Given the description of an element on the screen output the (x, y) to click on. 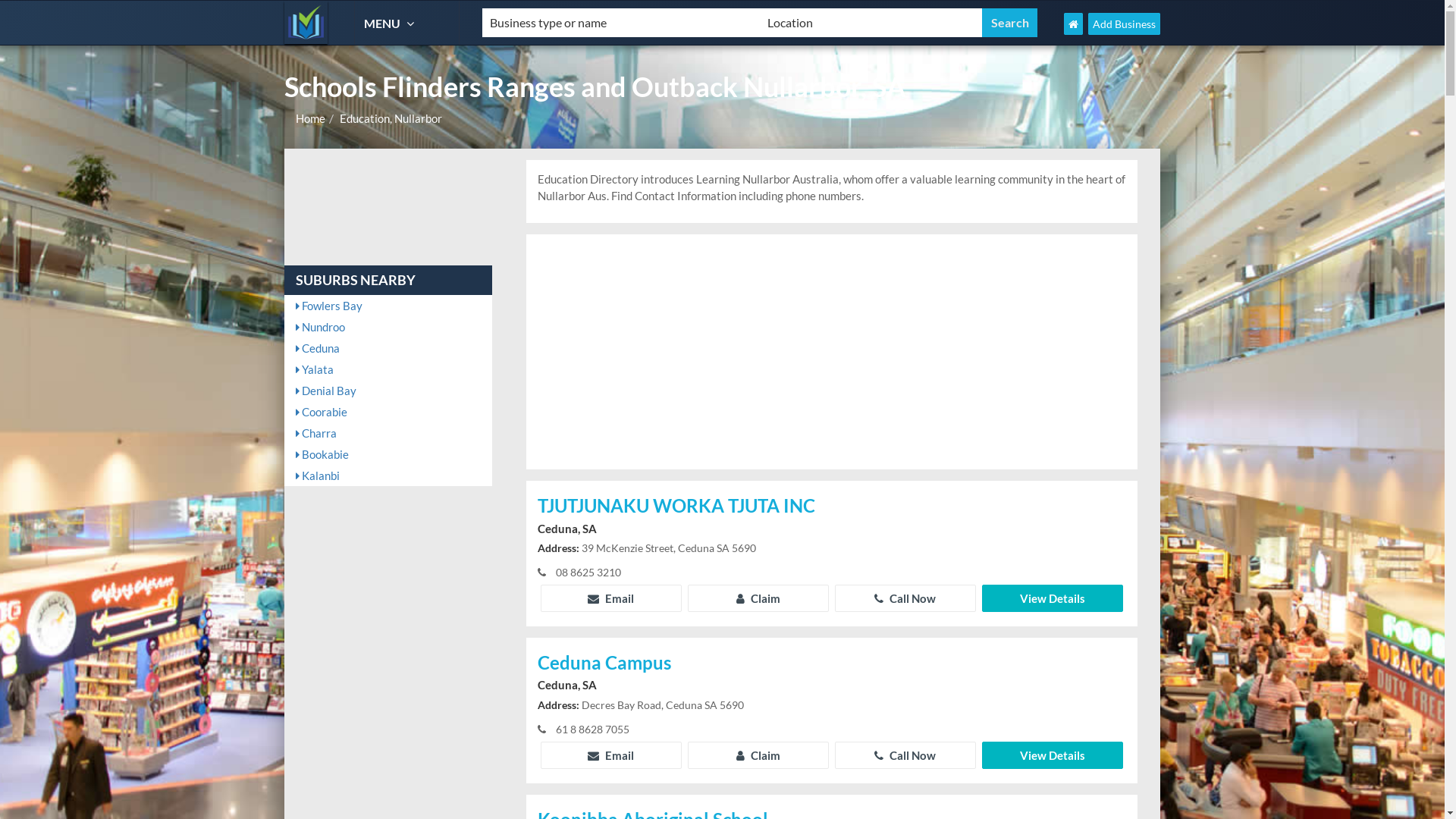
Education Directory Home Page Element type: hover (1072, 23)
Call Now Element type: text (904, 597)
Yalata Element type: text (388, 368)
Charra Element type: text (388, 432)
Denial Bay Element type: text (388, 390)
Claim Element type: text (757, 754)
Education Directory Element type: hover (305, 21)
Kalanbi Element type: text (388, 475)
Home Element type: text (310, 118)
Email Element type: text (610, 754)
Call Now Element type: text (904, 754)
Fowlers Bay Element type: text (388, 305)
Claim Element type: text (757, 597)
Add Business Element type: text (1124, 23)
Search Element type: text (1009, 22)
Bookabie Element type: text (388, 453)
Coorabie Element type: text (388, 411)
Ceduna Campus Element type: text (831, 663)
Education, Nullarbor Element type: text (390, 118)
Email Element type: text (610, 597)
MENU Element type: text (390, 22)
View Details Element type: text (1052, 754)
Nundroo Element type: text (388, 326)
Ceduna Element type: text (388, 347)
View Details Element type: text (1052, 597)
TJUTJUNAKU WORKA TJUTA INC Element type: text (831, 506)
Advertisement Element type: hover (831, 351)
